Given the description of an element on the screen output the (x, y) to click on. 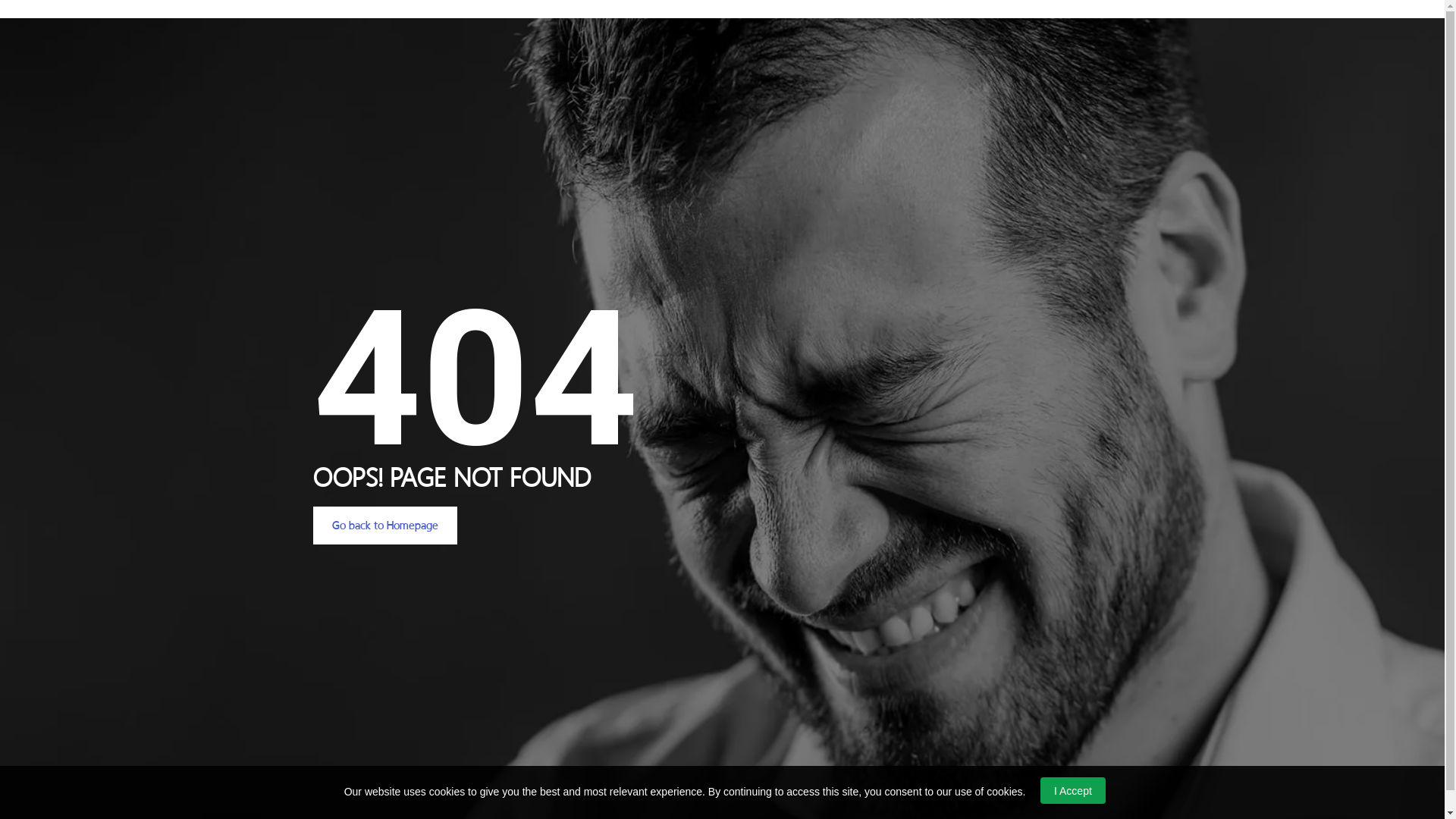
Go back to Homepage Element type: text (384, 525)
